Given the description of an element on the screen output the (x, y) to click on. 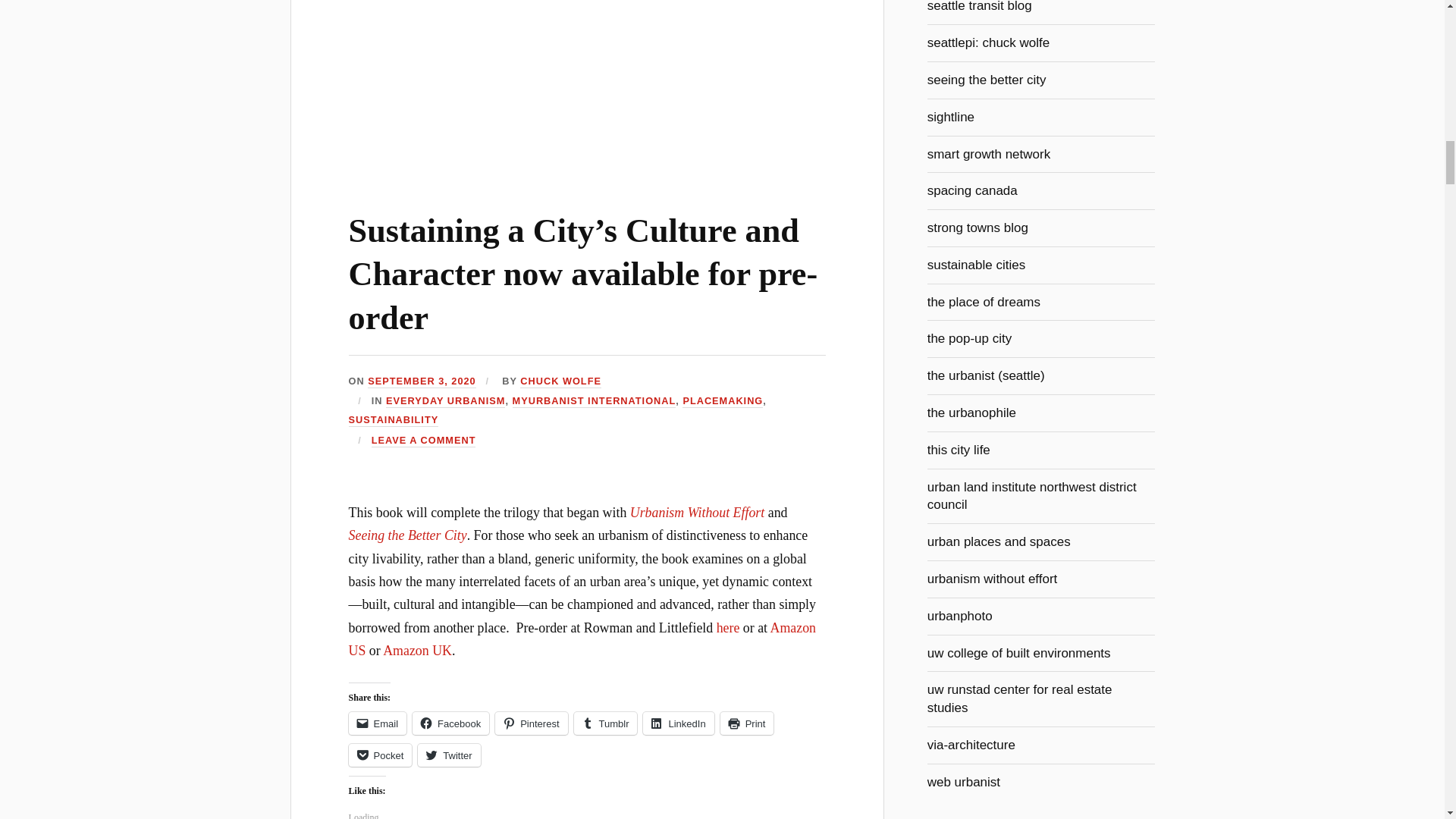
CHUCK WOLFE (560, 381)
Click to share on LinkedIn (678, 722)
Click to email a link to a friend (378, 722)
Click to share on Tumblr (605, 722)
EVERYDAY URBANISM (445, 400)
Click to share on Facebook (450, 722)
Click to share on Pinterest (531, 722)
SEPTEMBER 3, 2020 (422, 381)
